Given the description of an element on the screen output the (x, y) to click on. 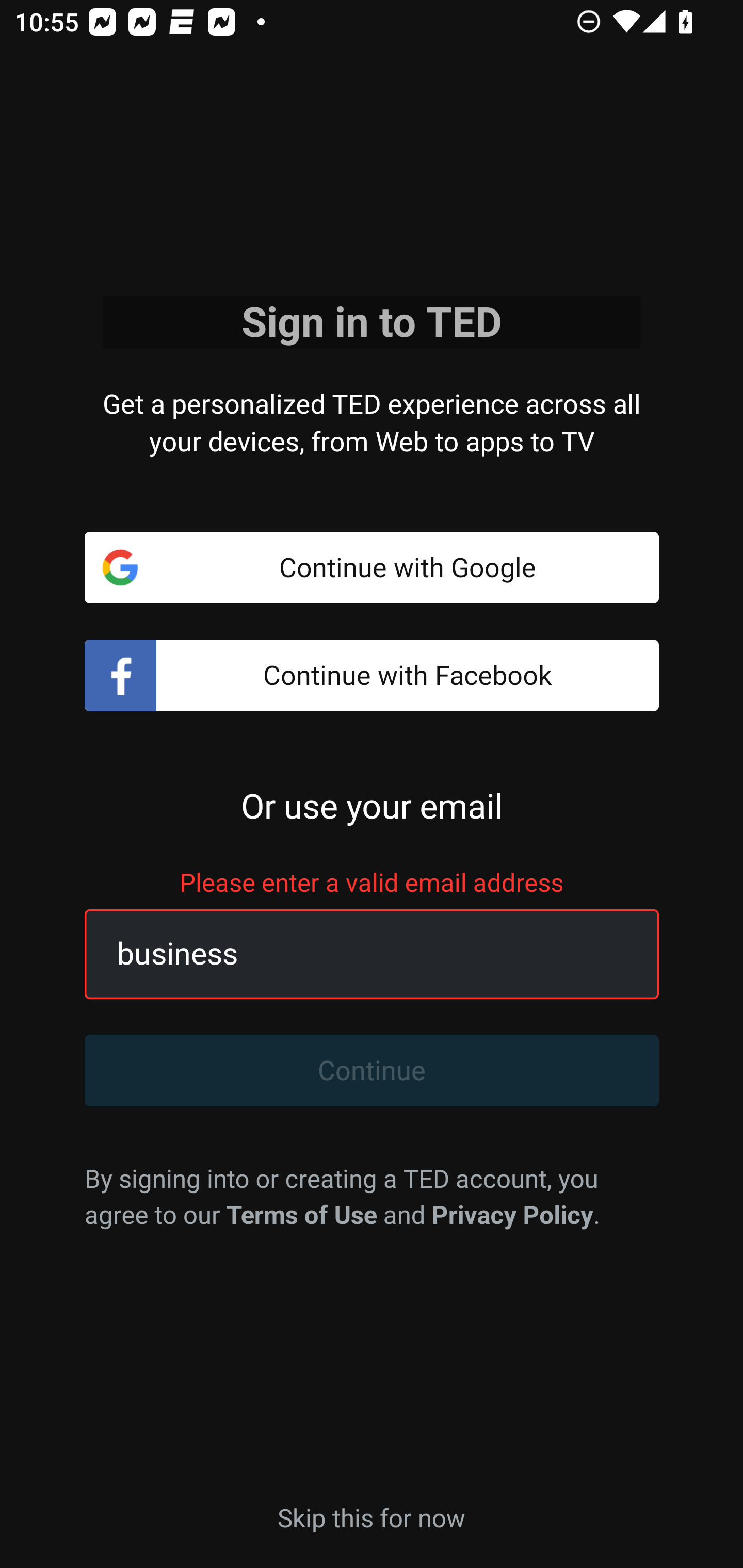
Continue with Google (371, 567)
Continue with Facebook (371, 675)
business (349, 953)
Continue (371, 1070)
Skip this for now (371, 1516)
